Given the description of an element on the screen output the (x, y) to click on. 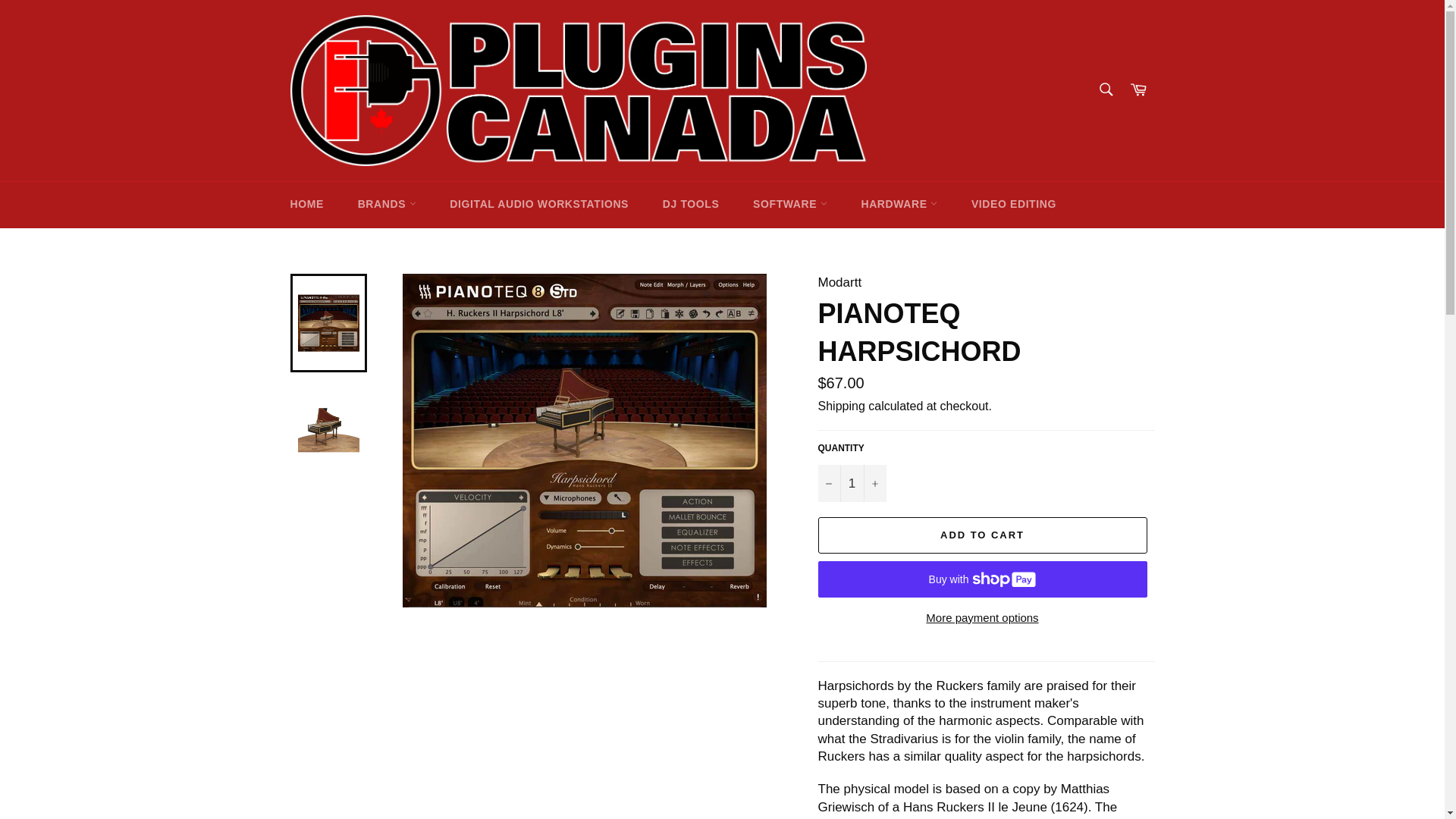
1 (850, 483)
